Given the description of an element on the screen output the (x, y) to click on. 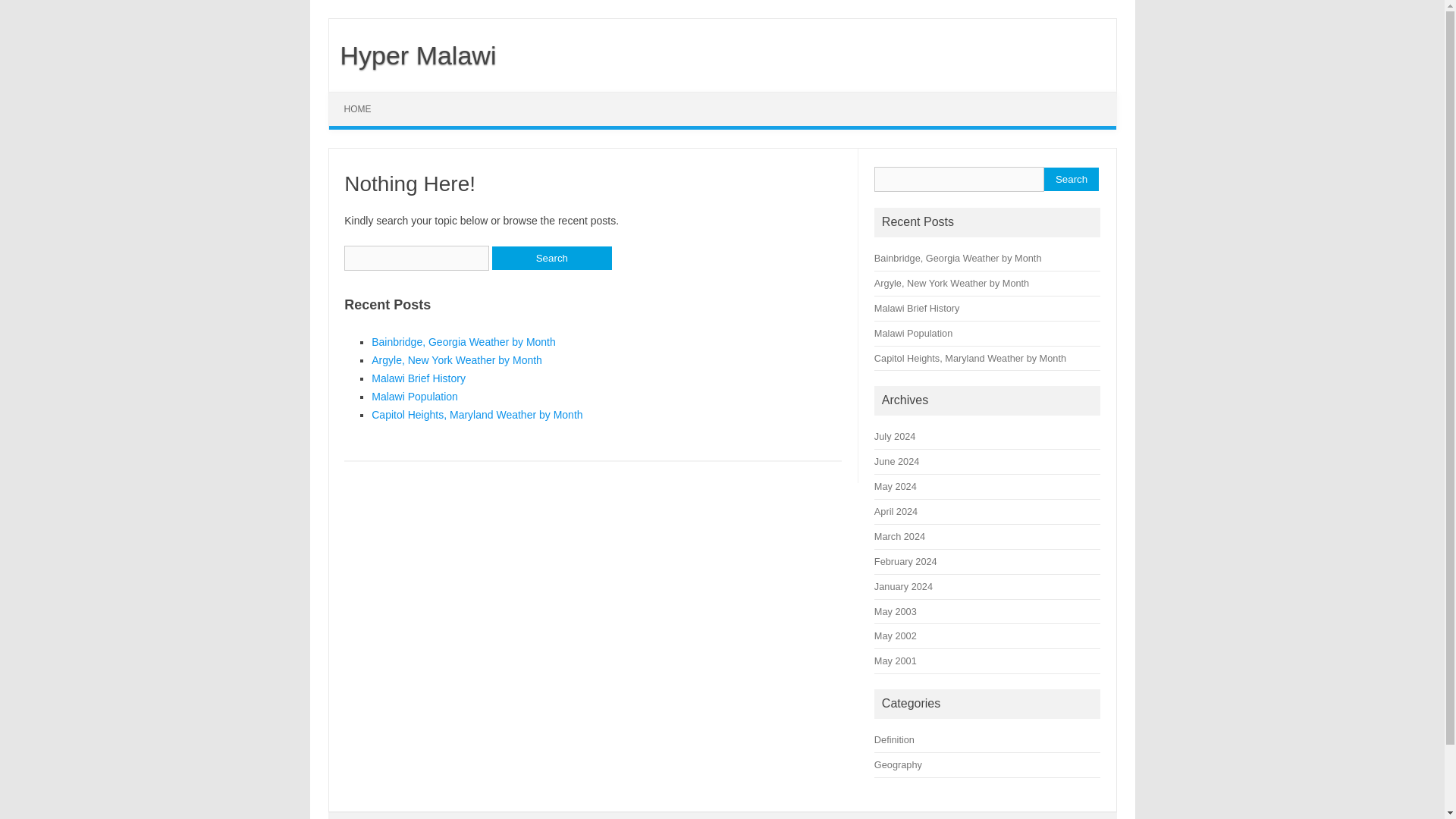
February 2024 (906, 561)
Capitol Heights, Maryland Weather by Month (970, 357)
Malawi Population (913, 333)
Geography (898, 764)
January 2024 (904, 586)
Capitol Heights, Maryland Weather by Month (476, 414)
May 2002 (896, 635)
June 2024 (896, 460)
Search (551, 258)
May 2003 (896, 611)
Argyle, New York Weather by Month (456, 359)
Search (1070, 178)
Skip to content (363, 96)
Malawi Brief History (917, 307)
Hyper Malawi (412, 54)
